Given the description of an element on the screen output the (x, y) to click on. 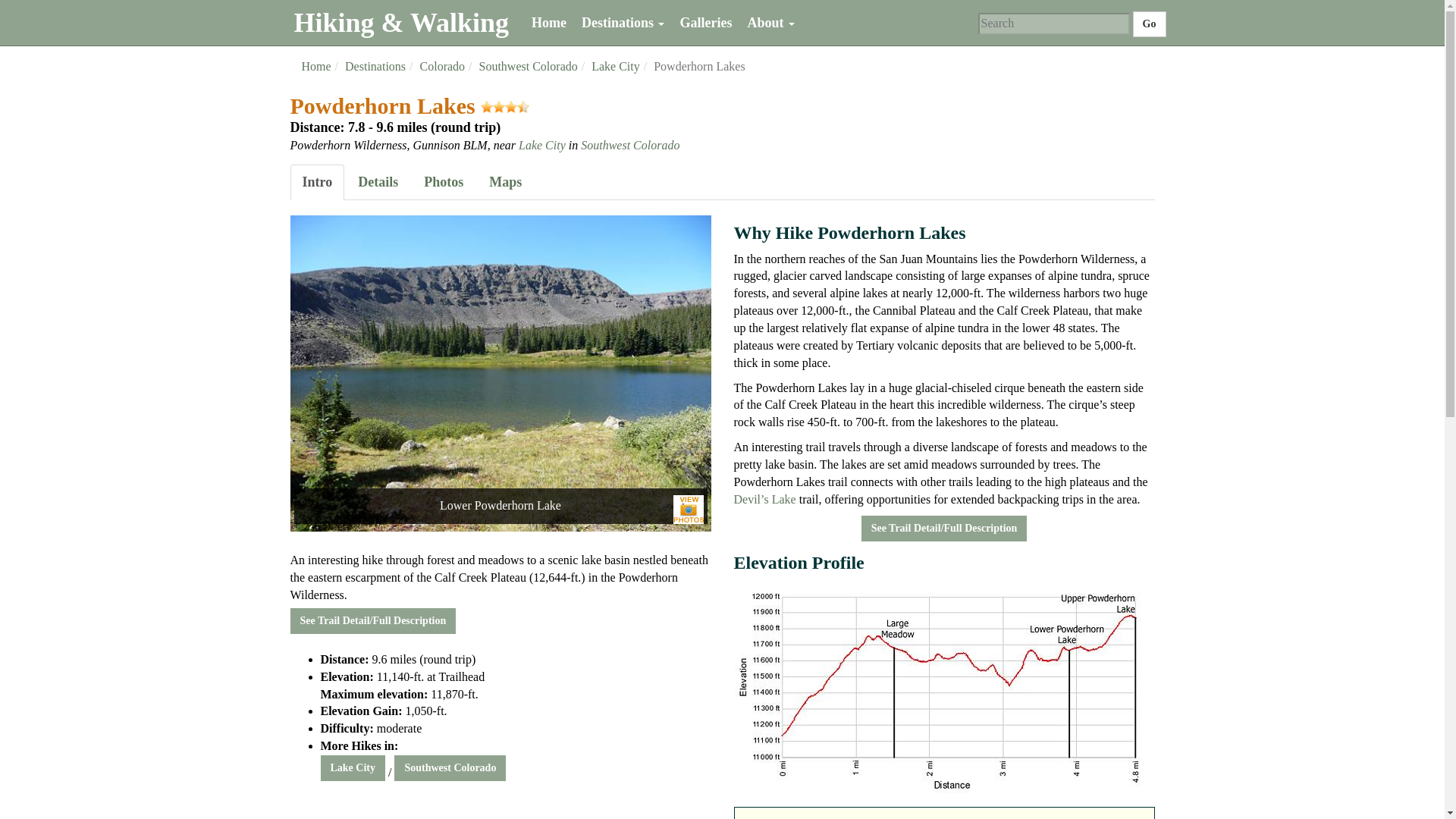
Destinations (622, 22)
Home (548, 22)
Go (1149, 23)
Go (1149, 23)
